Given the description of an element on the screen output the (x, y) to click on. 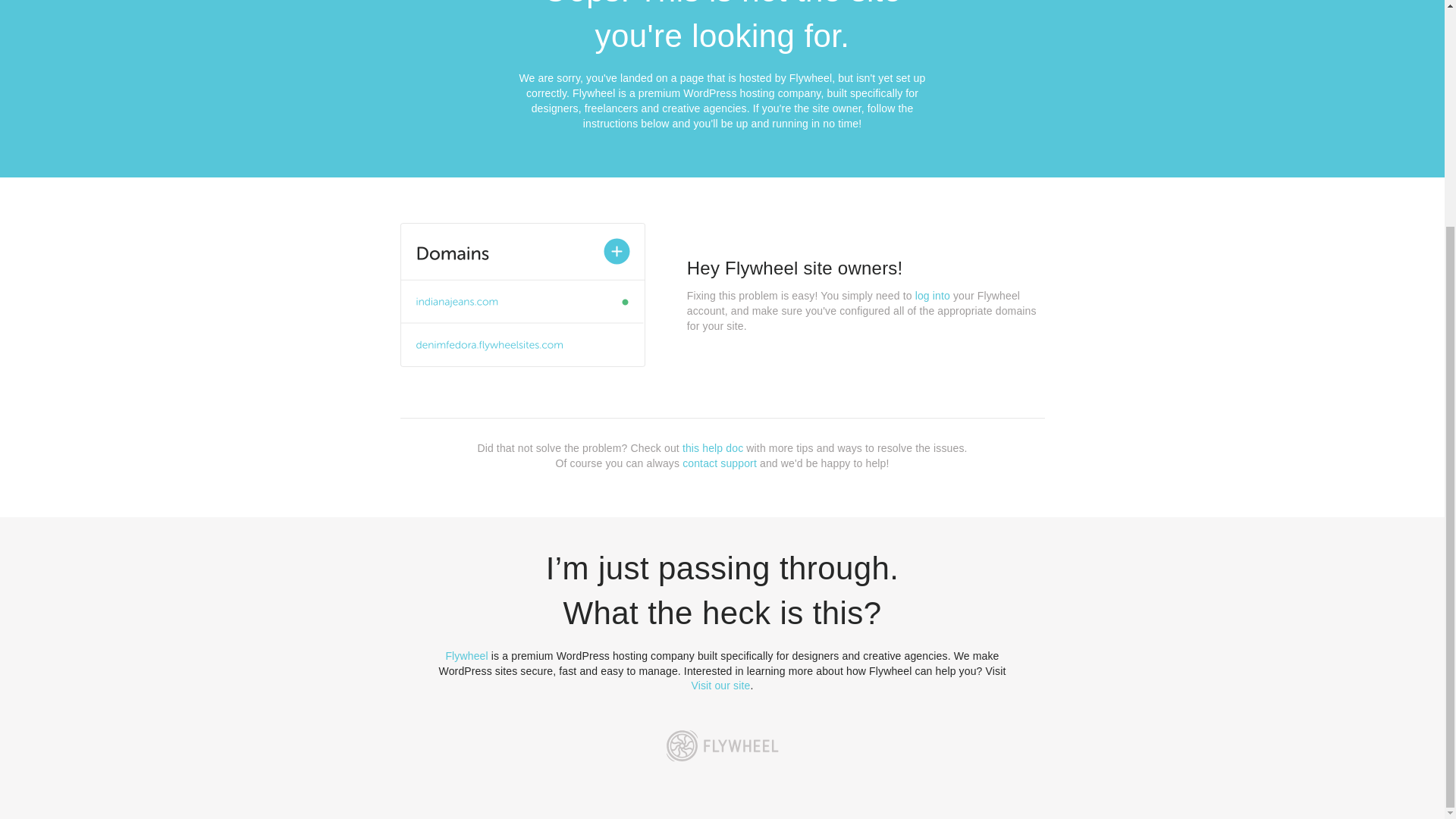
this help doc (712, 448)
Visit our site (721, 685)
log into (932, 295)
contact support (719, 463)
Flywheel (466, 655)
